Given the description of an element on the screen output the (x, y) to click on. 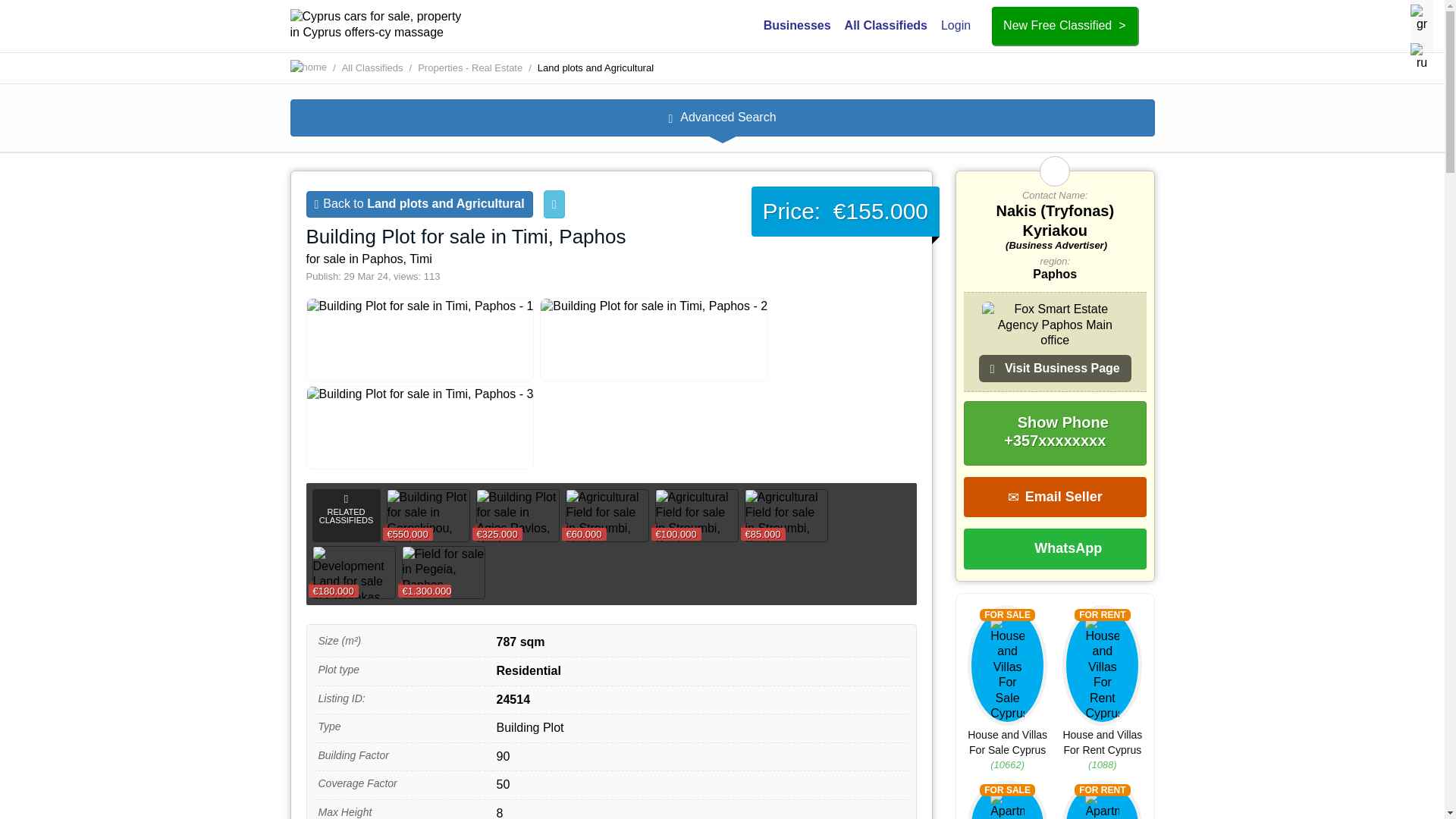
Create a free classified ad in Cyprus (1064, 25)
Agricultural Field for sale in Stroumbi, Paphos (607, 515)
All Classifieds (372, 67)
Cyprus Land plots and Agricultural  (595, 67)
Back to Land plots and Agricultural (418, 203)
All Classifieds (885, 24)
All Classifieds (372, 67)
Advanced Search (721, 117)
Cyprus Properties - Real Estate (469, 67)
Properties - Real Estate (469, 67)
